Given the description of an element on the screen output the (x, y) to click on. 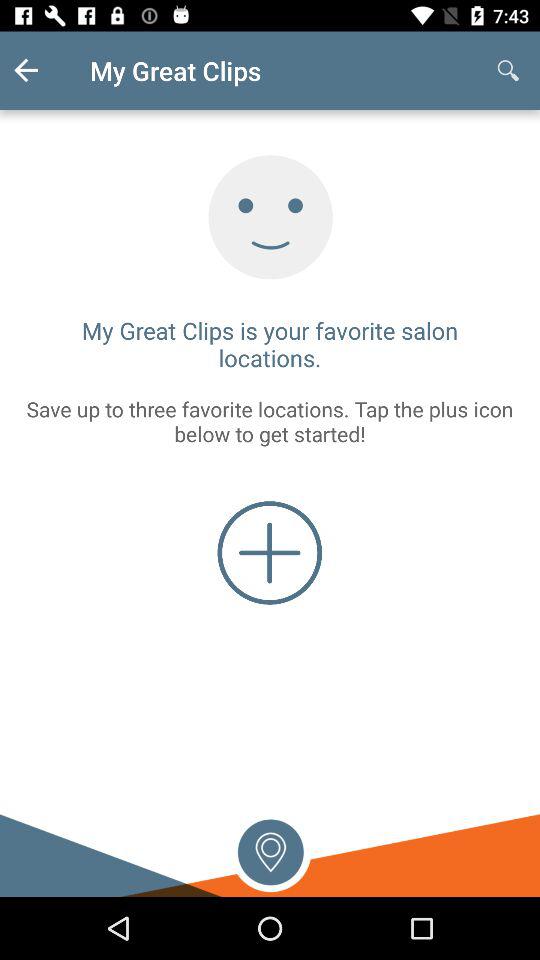
select option (270, 850)
